Given the description of an element on the screen output the (x, y) to click on. 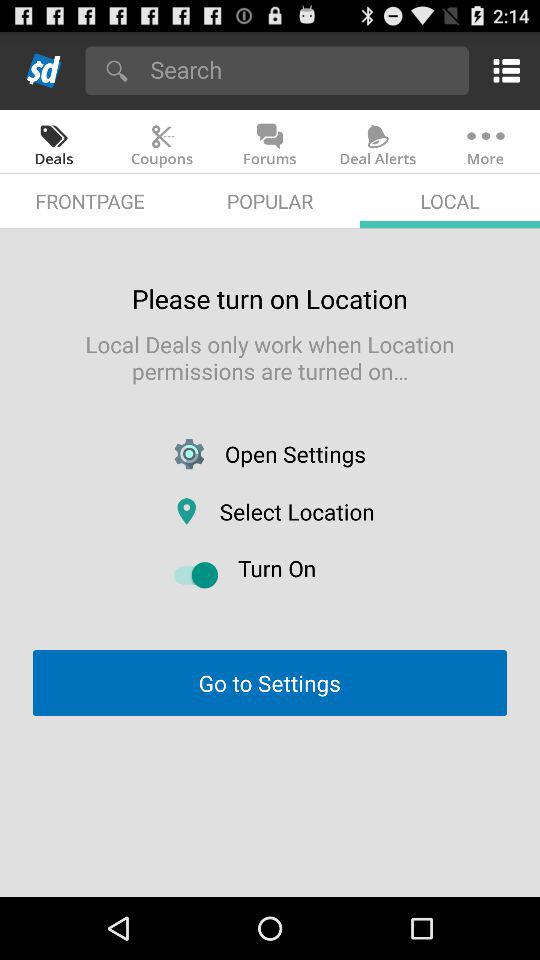
swipe until frontpage icon (90, 200)
